Given the description of an element on the screen output the (x, y) to click on. 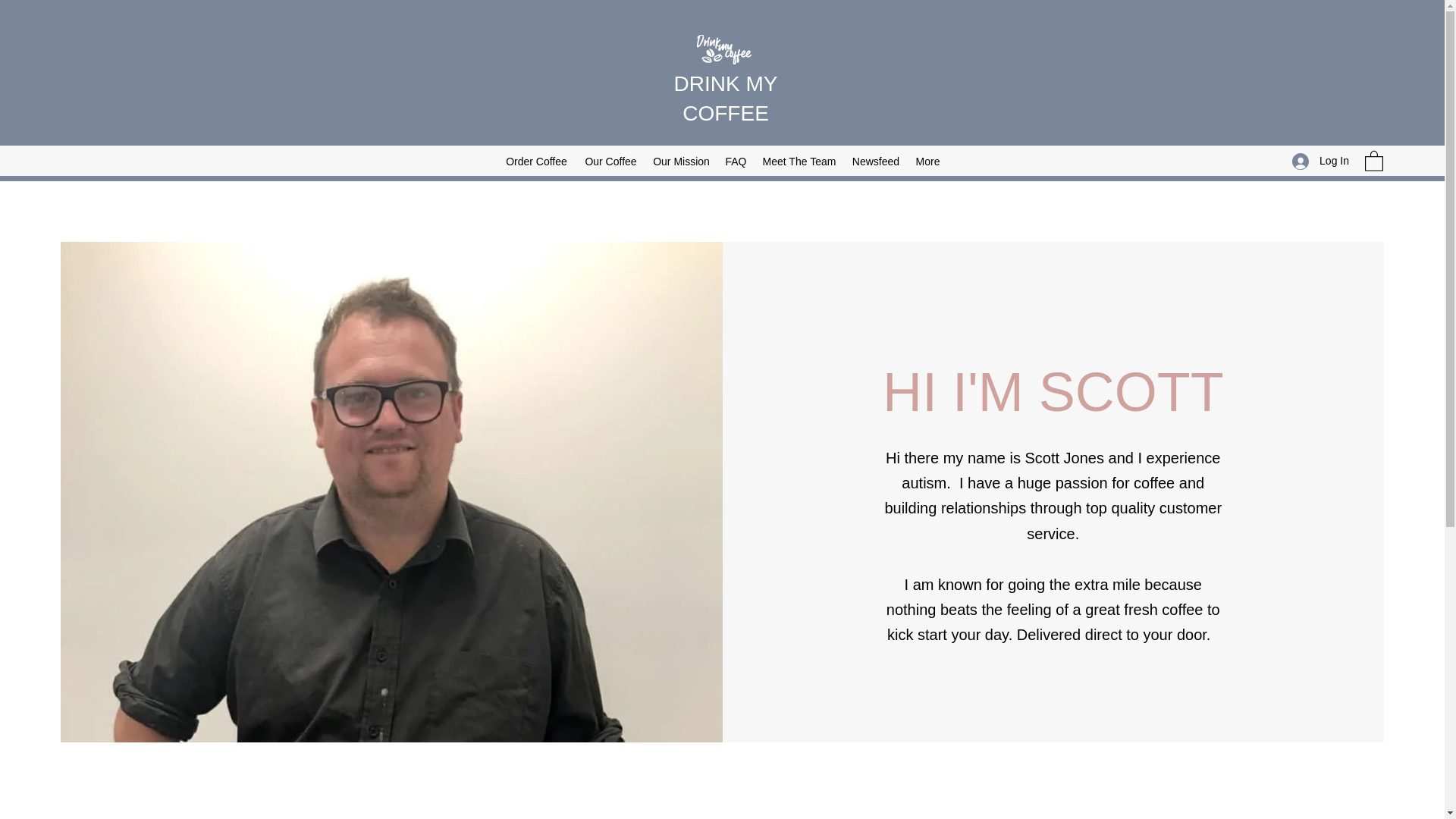
Newsfeed (875, 160)
Order Coffee (536, 160)
Meet The Team (799, 160)
DRINK MY COFFEE (725, 98)
Our Mission (681, 160)
FAQ (735, 160)
Log In (1320, 161)
Our Coffee (610, 160)
